Given the description of an element on the screen output the (x, y) to click on. 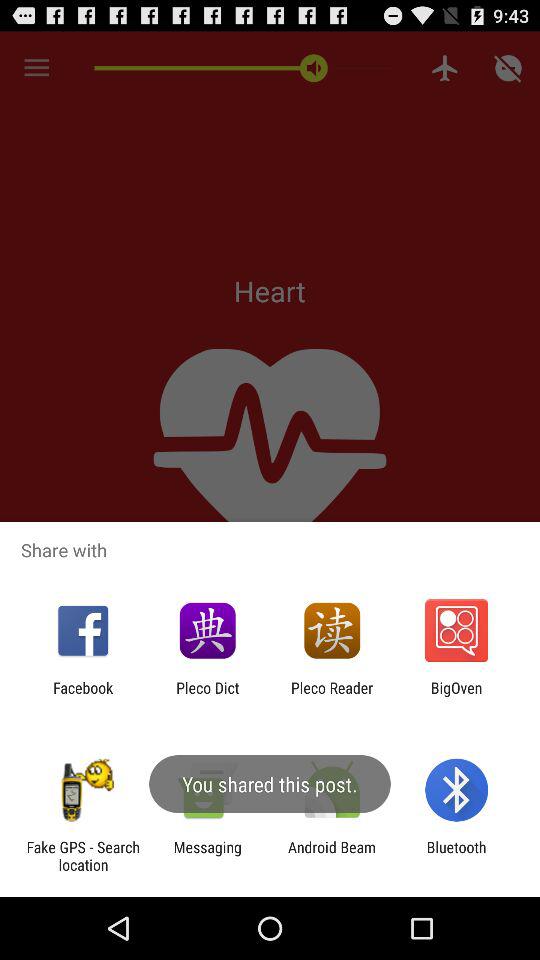
turn on item next to messaging app (332, 856)
